Given the description of an element on the screen output the (x, y) to click on. 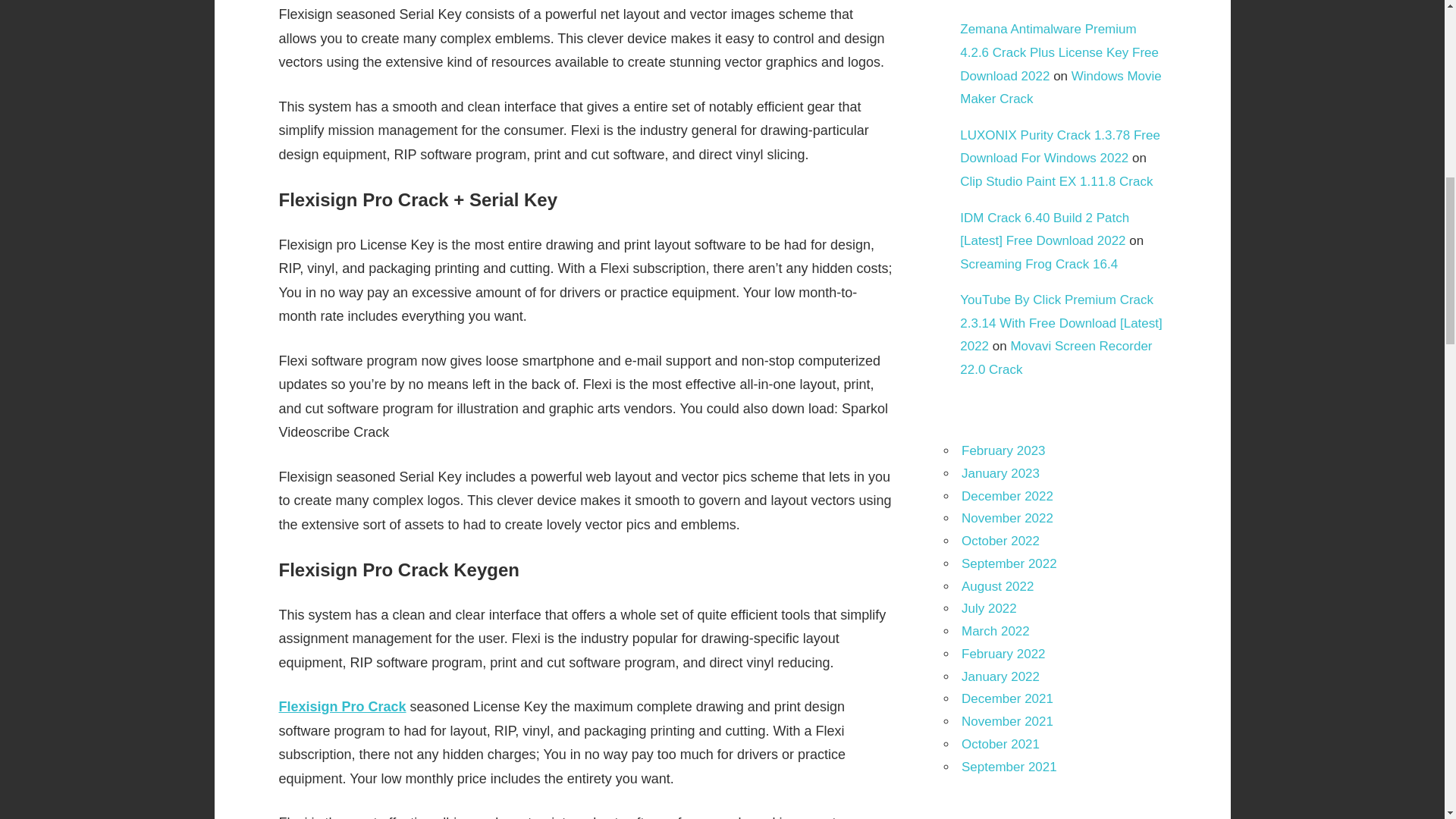
Movavi Screen Recorder 22.0 Crack (1055, 357)
December 2022 (1006, 495)
Screaming Frog Crack 16.4 (1038, 264)
Clip Studio Paint EX 1.11.8 Crack (1056, 181)
Windows Movie Maker Crack (1060, 87)
Flexisign Pro Crack (342, 706)
January 2023 (999, 473)
February 2023 (1002, 450)
